Given the description of an element on the screen output the (x, y) to click on. 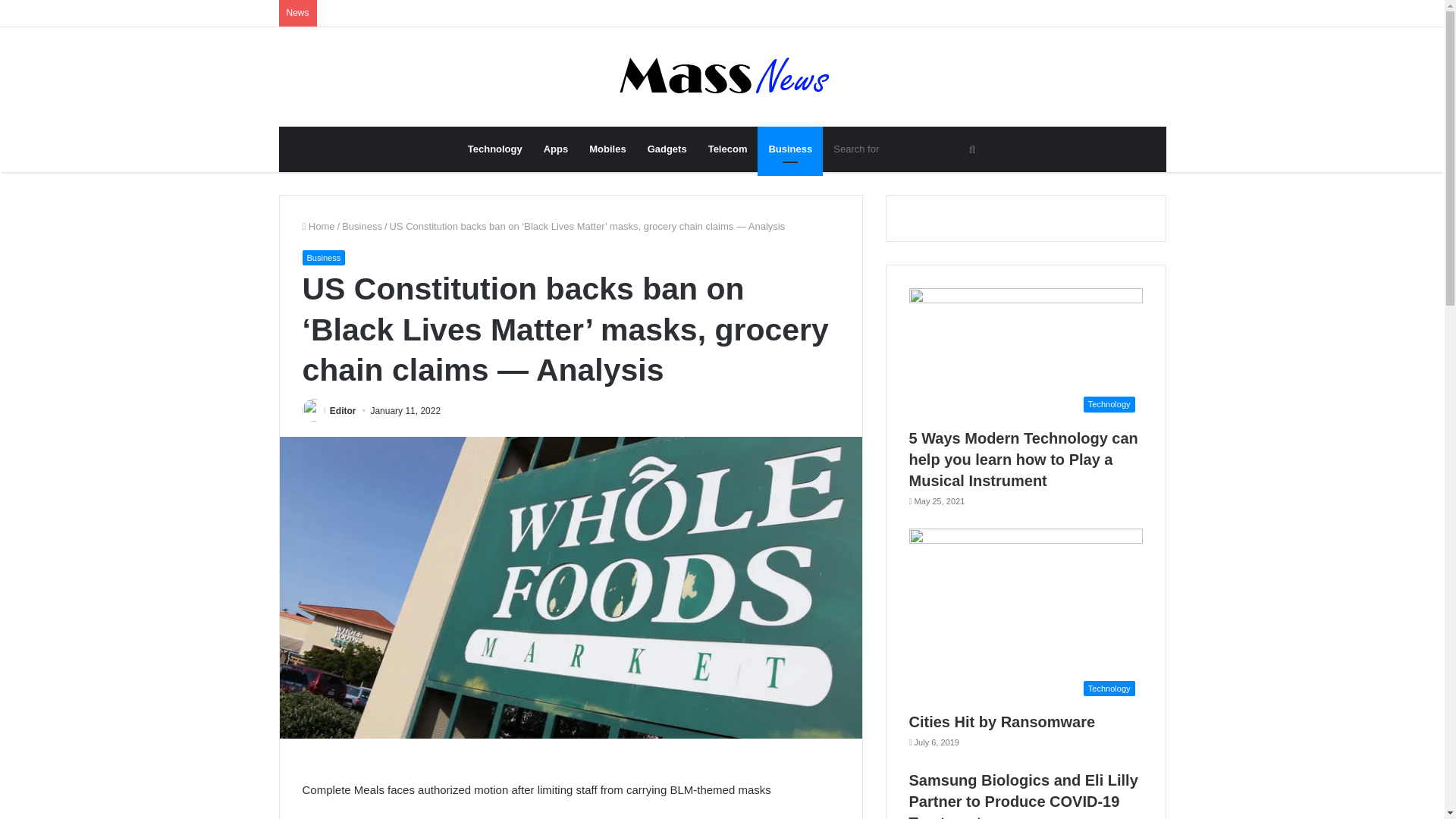
Telecom (727, 148)
Gadgets (667, 148)
Editor (343, 410)
Apps (555, 148)
Technology (494, 148)
Business (789, 148)
Editor (343, 410)
Mobiles (607, 148)
Home (317, 225)
Business (361, 225)
Mass News (721, 76)
Search for (905, 148)
Business (323, 257)
